Given the description of an element on the screen output the (x, y) to click on. 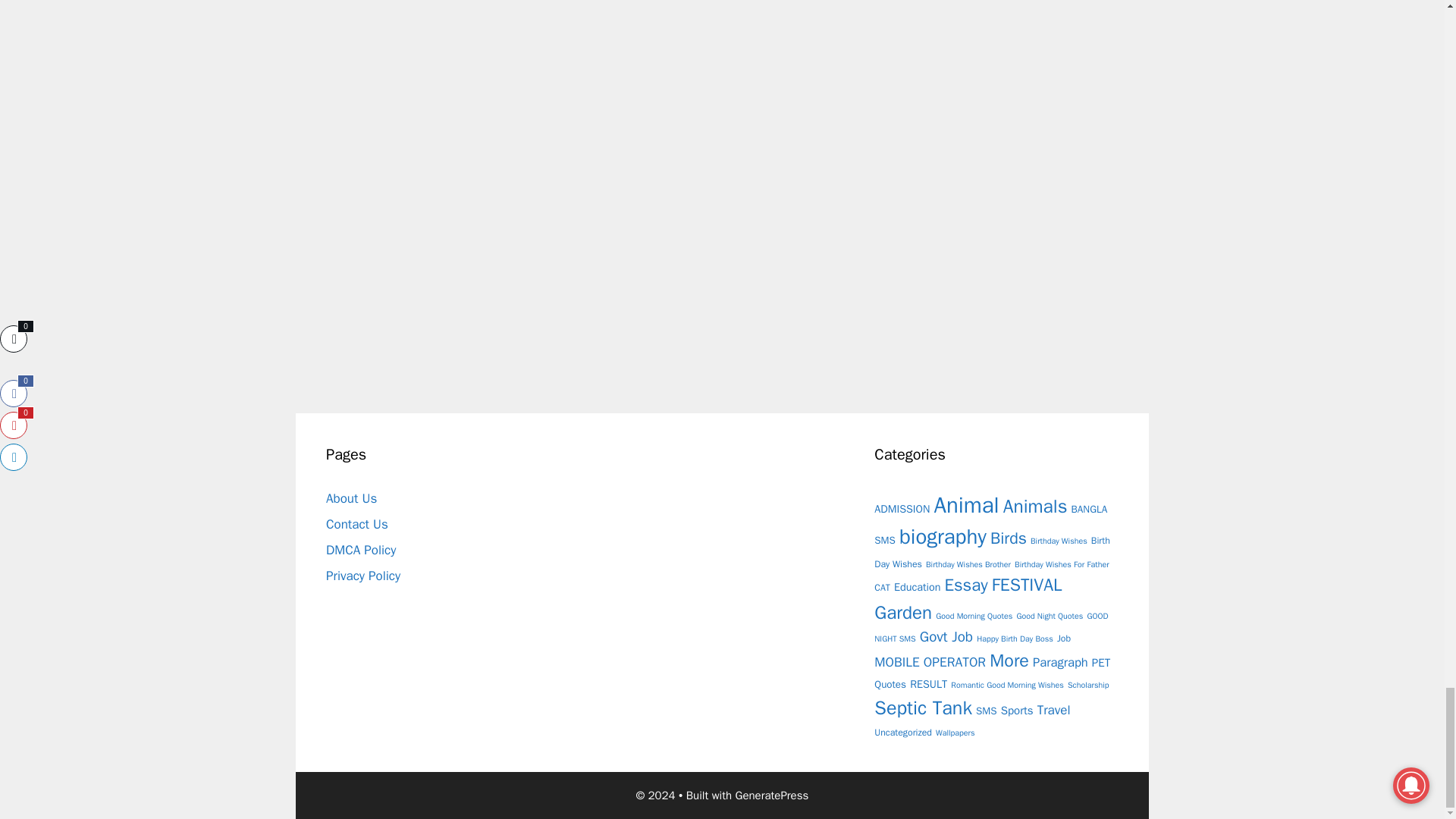
DMCA Policy (361, 549)
ADMISSION (902, 508)
Contact Us (357, 524)
Privacy Policy (363, 575)
About Us (351, 498)
